Given the description of an element on the screen output the (x, y) to click on. 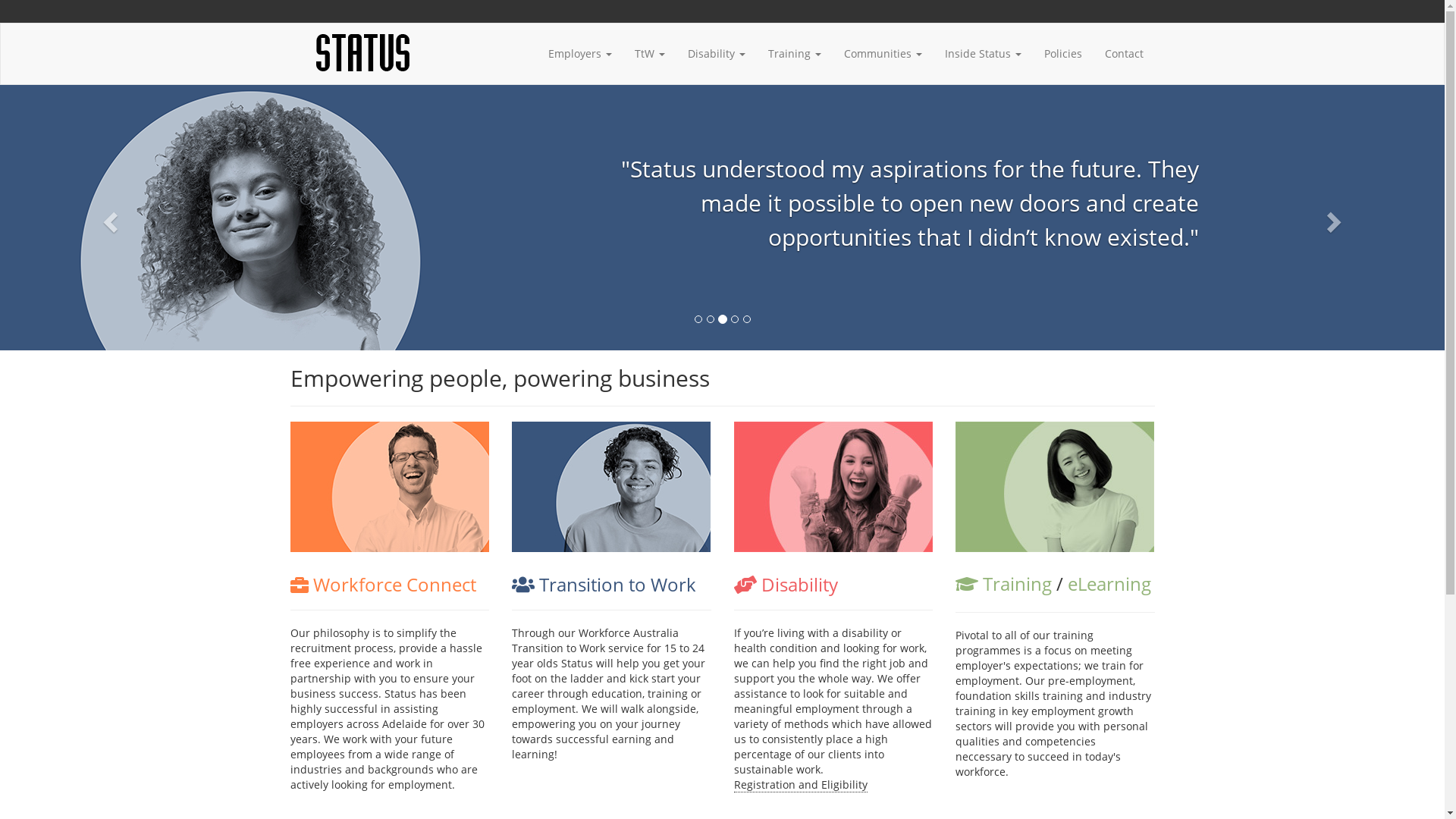
TtW Element type: text (649, 53)
Disability Element type: text (716, 53)
Next Element type: text (1335, 217)
Policies Element type: text (1062, 53)
eLearning Element type: text (1109, 583)
Training Element type: text (1003, 583)
Employers Element type: text (579, 53)
Inside Status Element type: text (982, 53)
Communities Element type: text (882, 53)
Transition to Work Element type: text (611, 584)
Previous Element type: text (108, 217)
Training Element type: text (794, 53)
Contact Element type: text (1123, 53)
Registration and Eligibility Element type: text (800, 784)
Workforce Connect Element type: text (389, 584)
Disability Element type: text (833, 584)
